Given the description of an element on the screen output the (x, y) to click on. 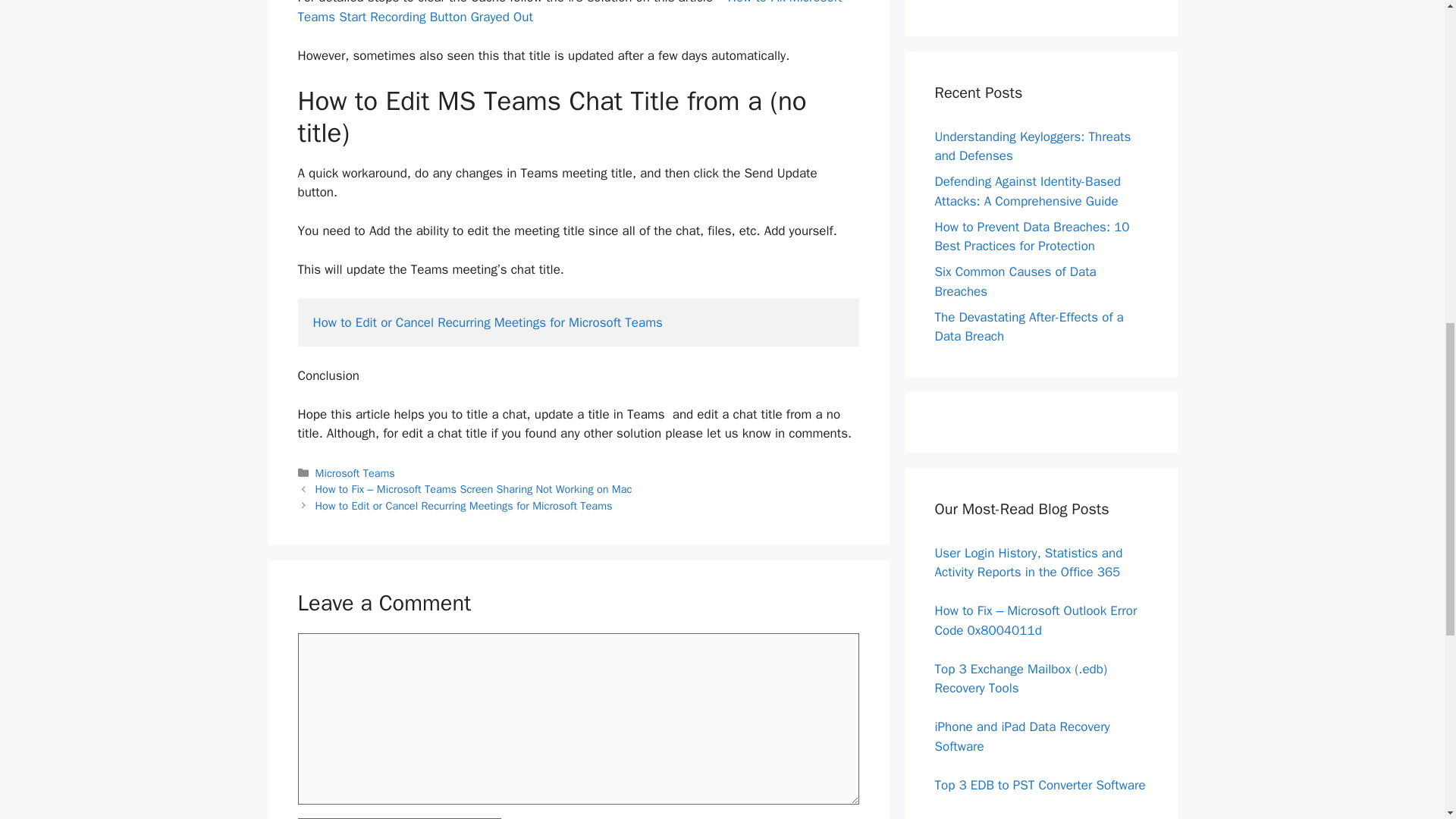
iPhone and iPad Data Recovery Software (1021, 736)
Microsoft Teams (354, 472)
Top 3 EDB to PST Converter Software (1039, 784)
How to Fix Microsoft Teams Start Recording Button Grayed Out (569, 12)
Advertisement (1040, 2)
Top 3 OST to PST Converter Software (1039, 817)
Understanding Keyloggers: Threats and Defenses (1032, 146)
How to Edit or Cancel Recurring Meetings for Microsoft Teams (463, 505)
Six Common Causes of Data Breaches (1015, 281)
How to Edit or Cancel Recurring Meetings for Microsoft Teams (487, 322)
The Devastating After-Effects of a Data Breach (1028, 326)
